Given the description of an element on the screen output the (x, y) to click on. 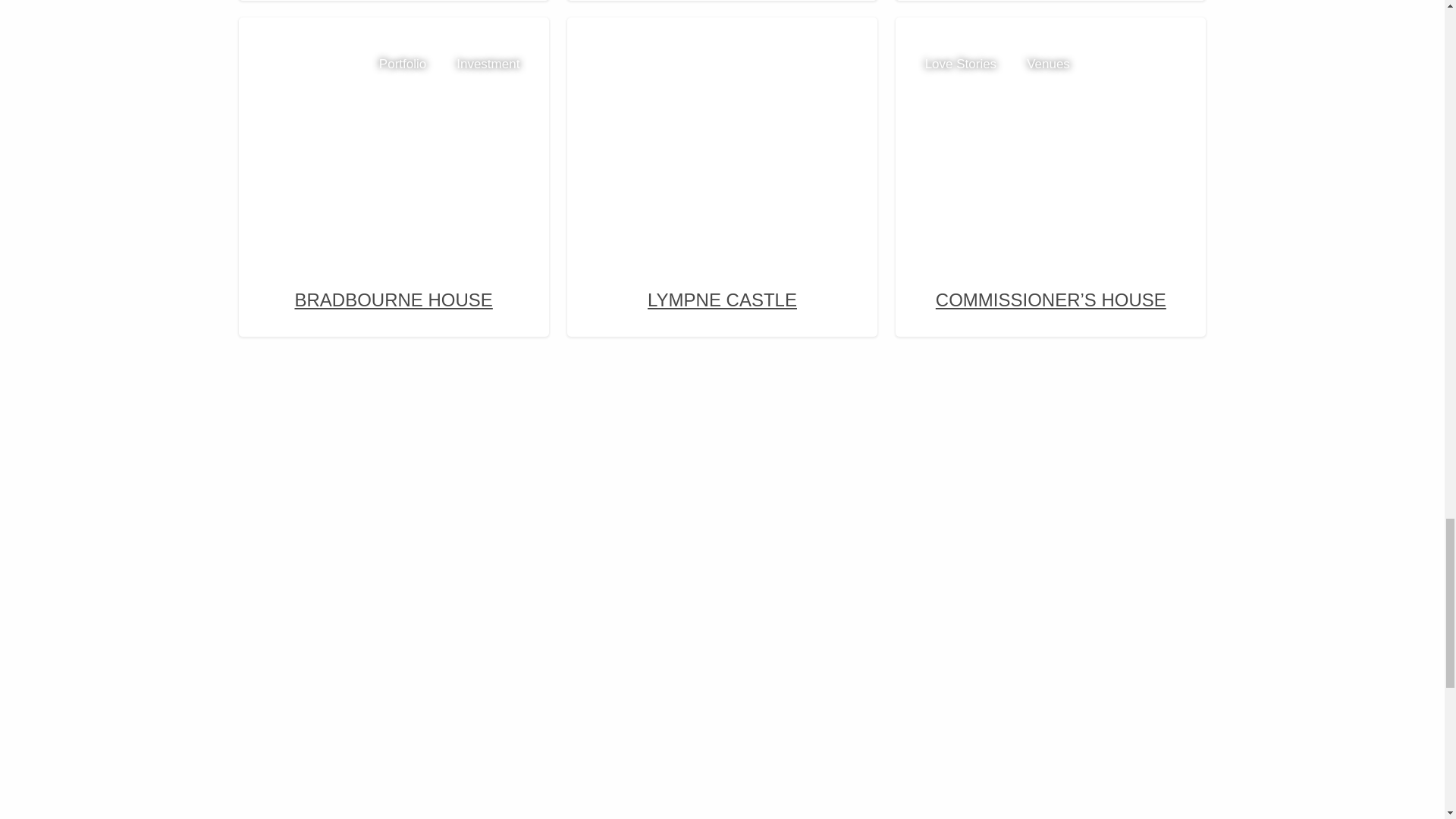
Lympne Castle (721, 126)
LYMPNE CASTLE (721, 173)
Bradbourne House (393, 126)
BRADBOURNE HOUSE (393, 173)
Commissioner's House (1050, 126)
